Given the description of an element on the screen output the (x, y) to click on. 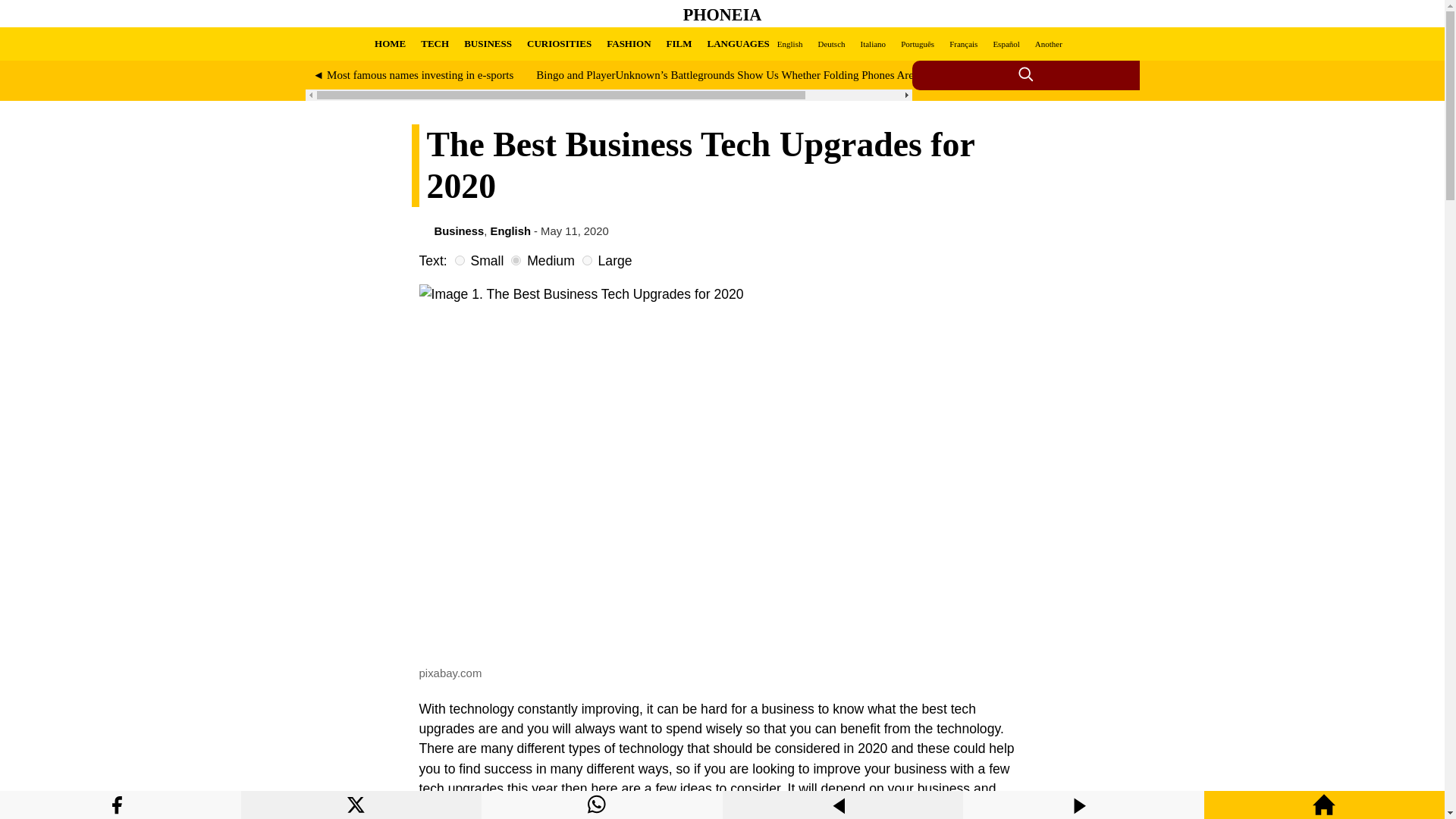
PHONEIA (721, 13)
English (790, 43)
Deutsch (830, 43)
FASHION (628, 43)
LANGUAGES (737, 43)
HOME (390, 43)
English (510, 231)
TECH (434, 43)
Share with X (361, 814)
Business (458, 231)
